Given the description of an element on the screen output the (x, y) to click on. 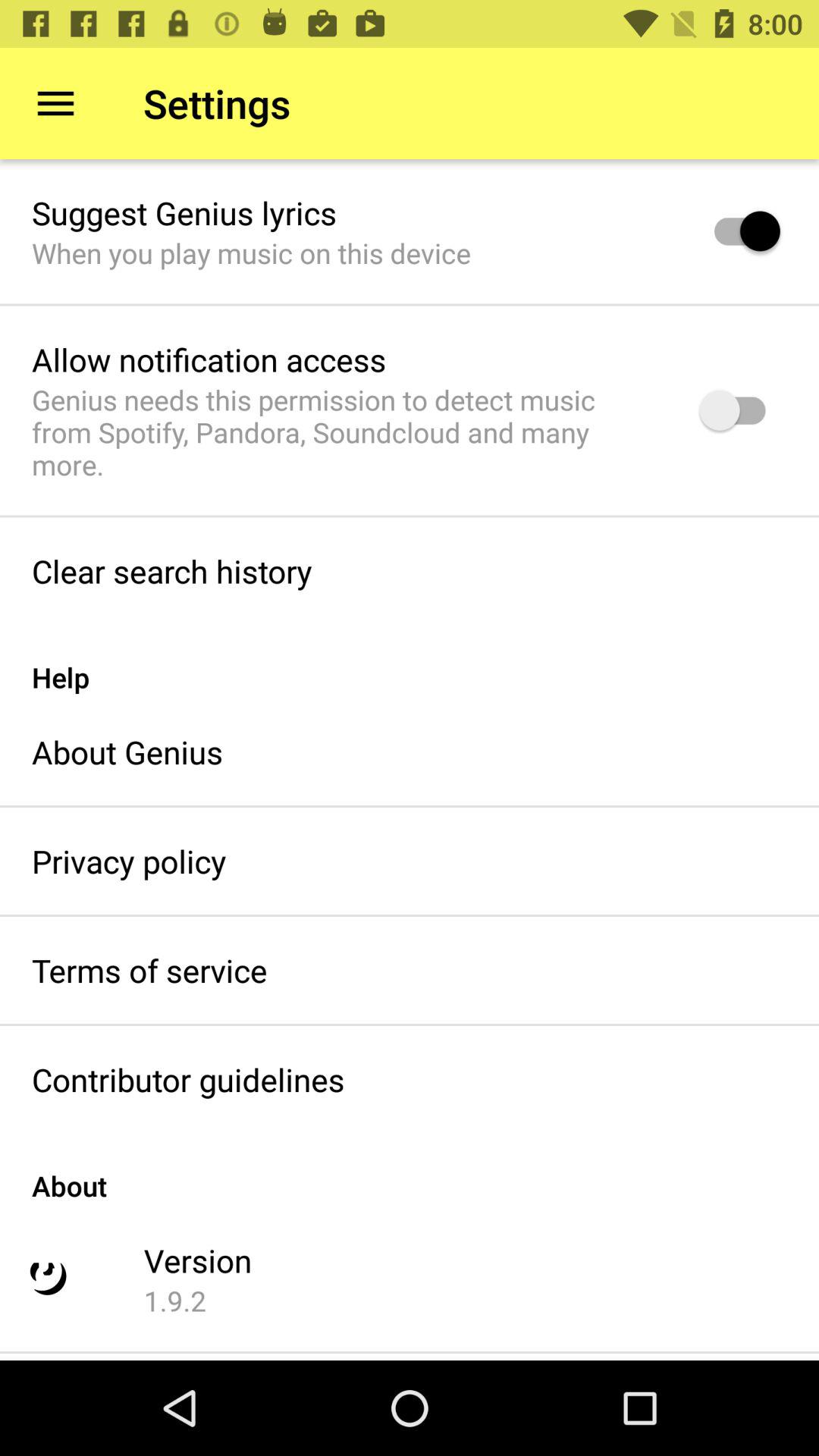
flip until clear search history item (171, 570)
